Given the description of an element on the screen output the (x, y) to click on. 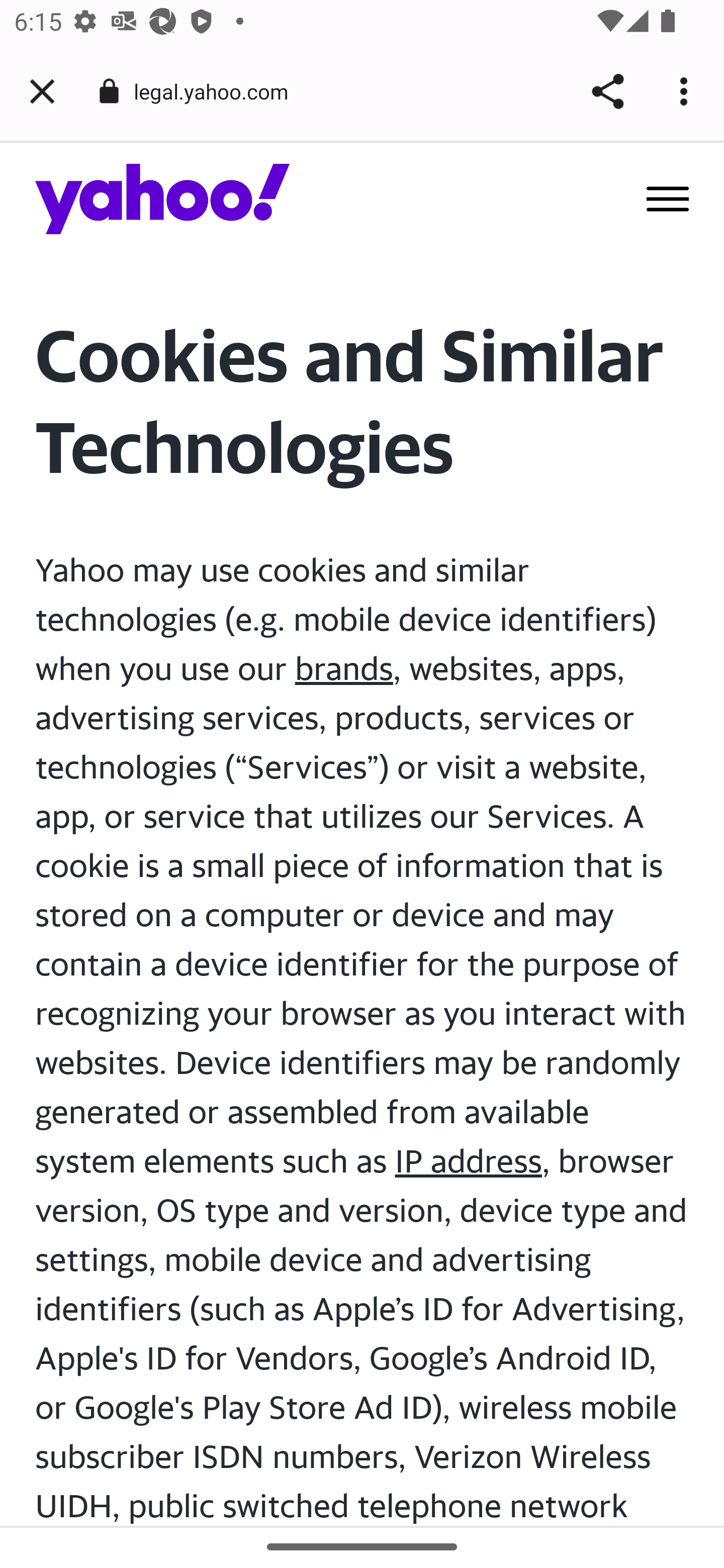
Close tab (42, 91)
Share (607, 91)
More options (687, 91)
Connection is secure (108, 91)
legal.yahoo.com (217, 90)
Yahoo logo (162, 198)
brands (343, 667)
IP address (467, 1160)
